Given the description of an element on the screen output the (x, y) to click on. 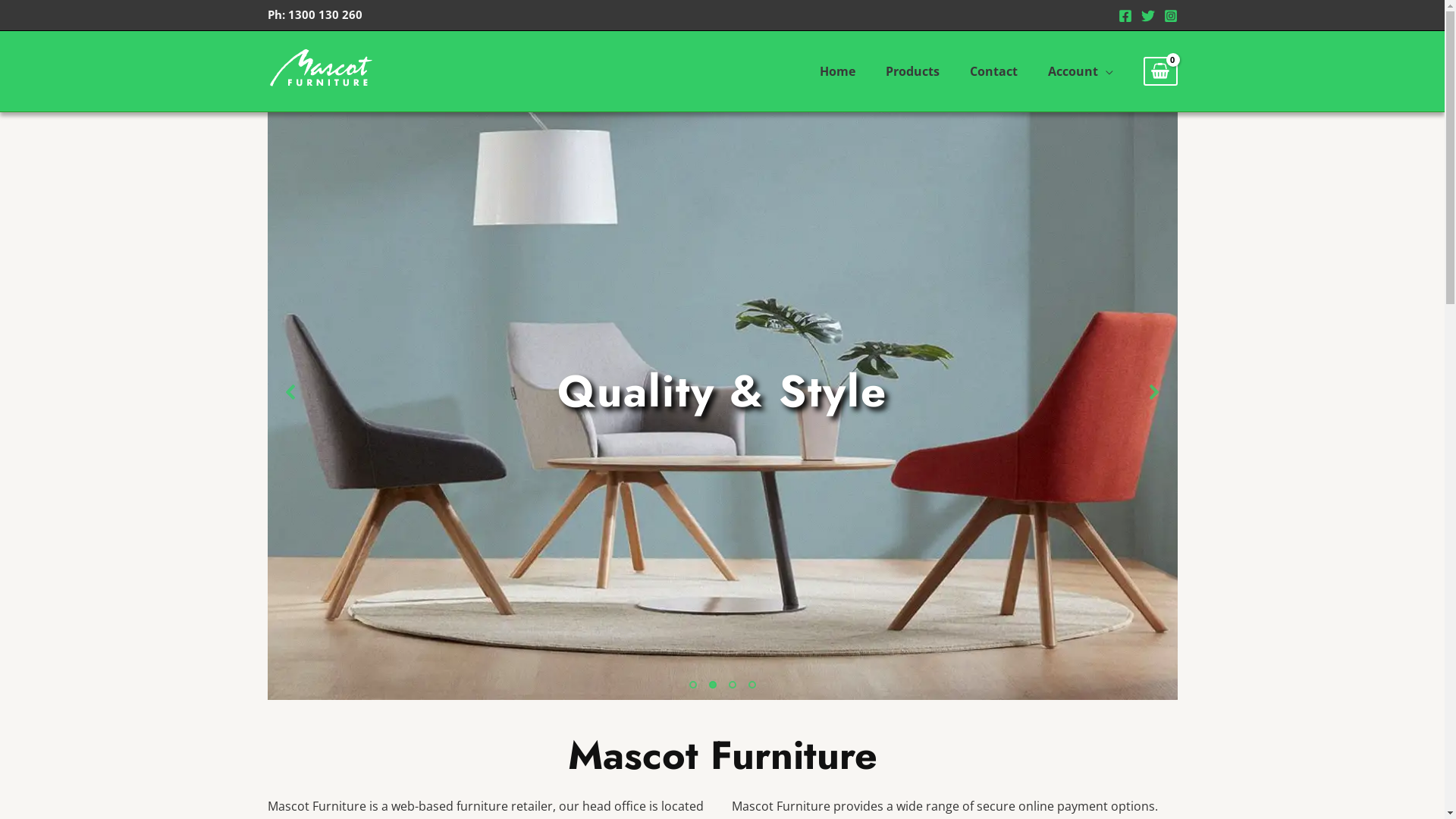
1300 130 260 Element type: text (325, 13)
Contact Element type: text (993, 70)
Home Element type: text (837, 70)
Products Element type: text (912, 70)
Account Element type: text (1080, 70)
